Given the description of an element on the screen output the (x, y) to click on. 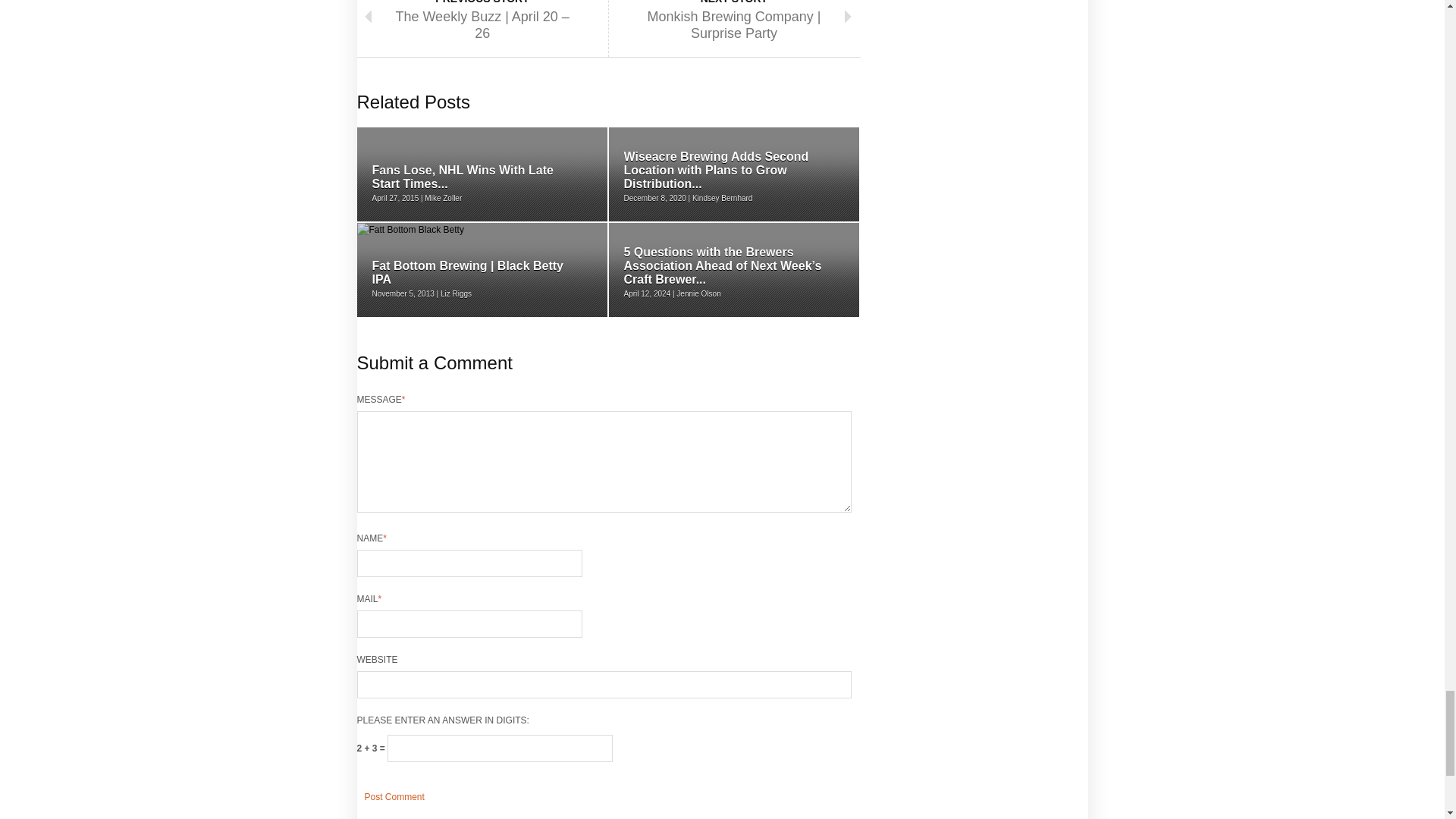
Post Comment (393, 796)
